Given the description of an element on the screen output the (x, y) to click on. 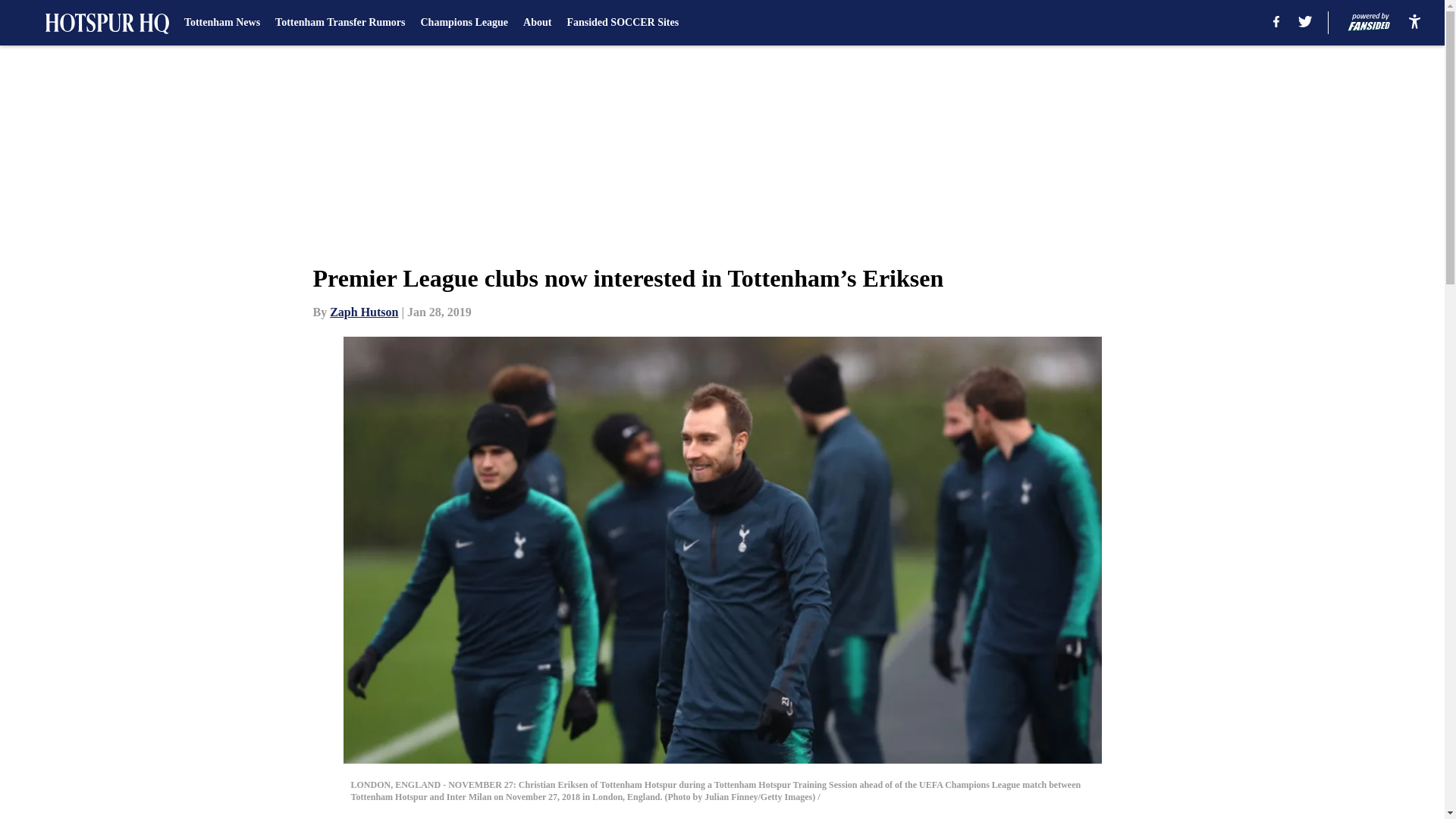
Zaph Hutson (363, 311)
Tottenham News (222, 22)
Champions League (464, 22)
About (536, 22)
Fansided SOCCER Sites (622, 22)
Tottenham Transfer Rumors (339, 22)
